Given the description of an element on the screen output the (x, y) to click on. 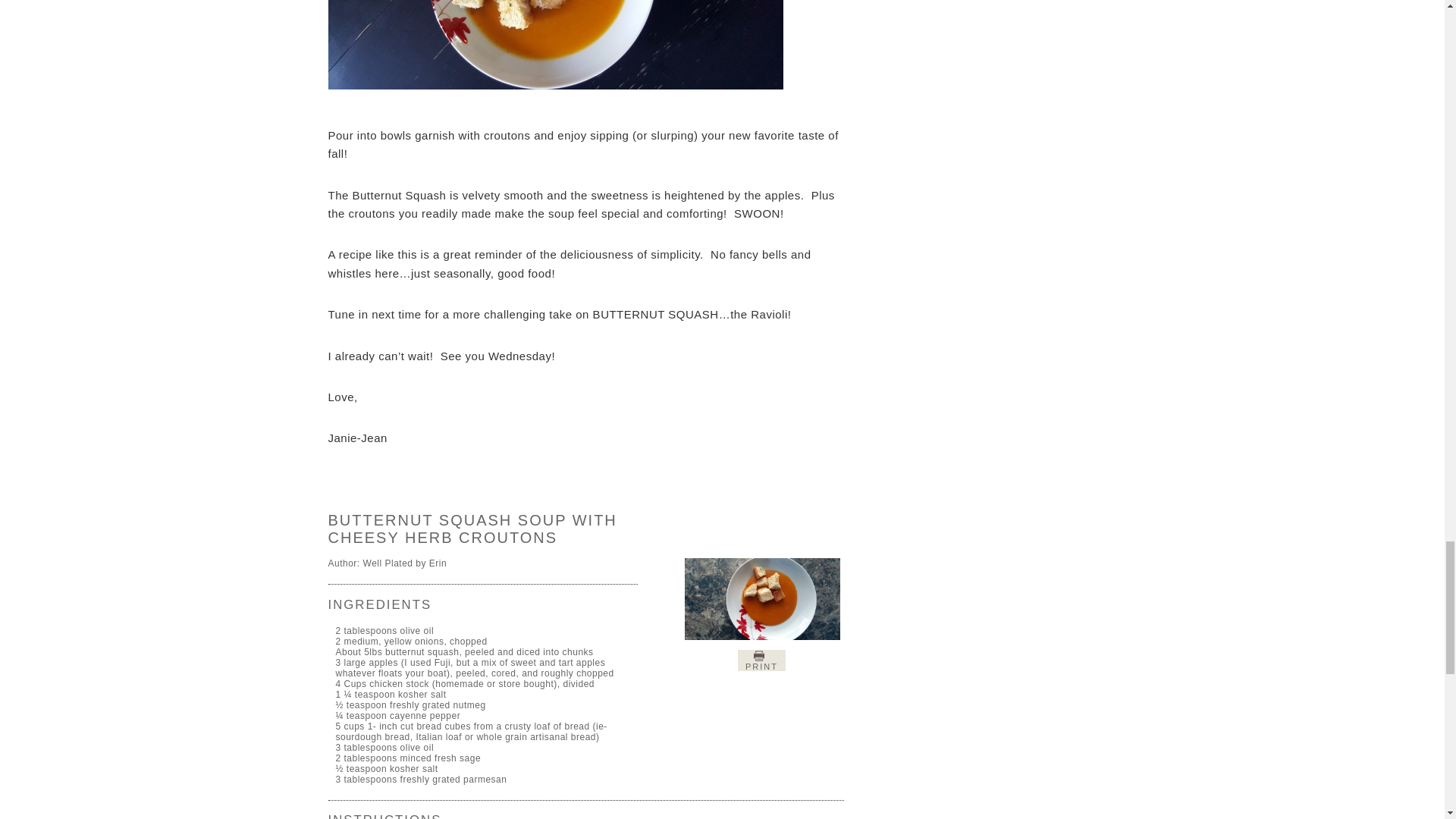
PRINT (762, 660)
